Given the description of an element on the screen output the (x, y) to click on. 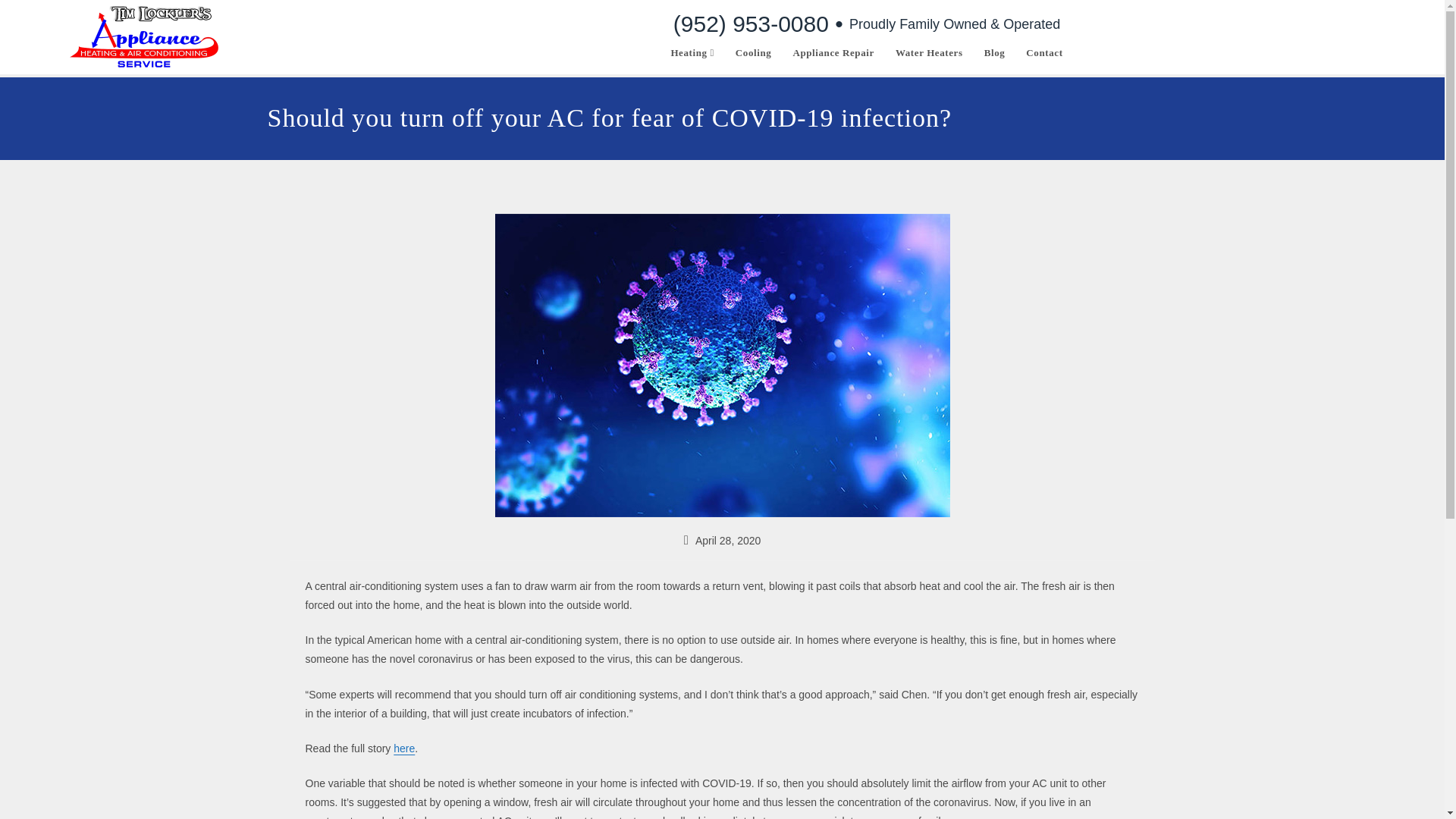
here (403, 748)
Blog (995, 52)
Heating (691, 52)
Cooling (754, 52)
Water Heaters (929, 52)
Appliance Repair (832, 52)
Contact (1043, 52)
